Given the description of an element on the screen output the (x, y) to click on. 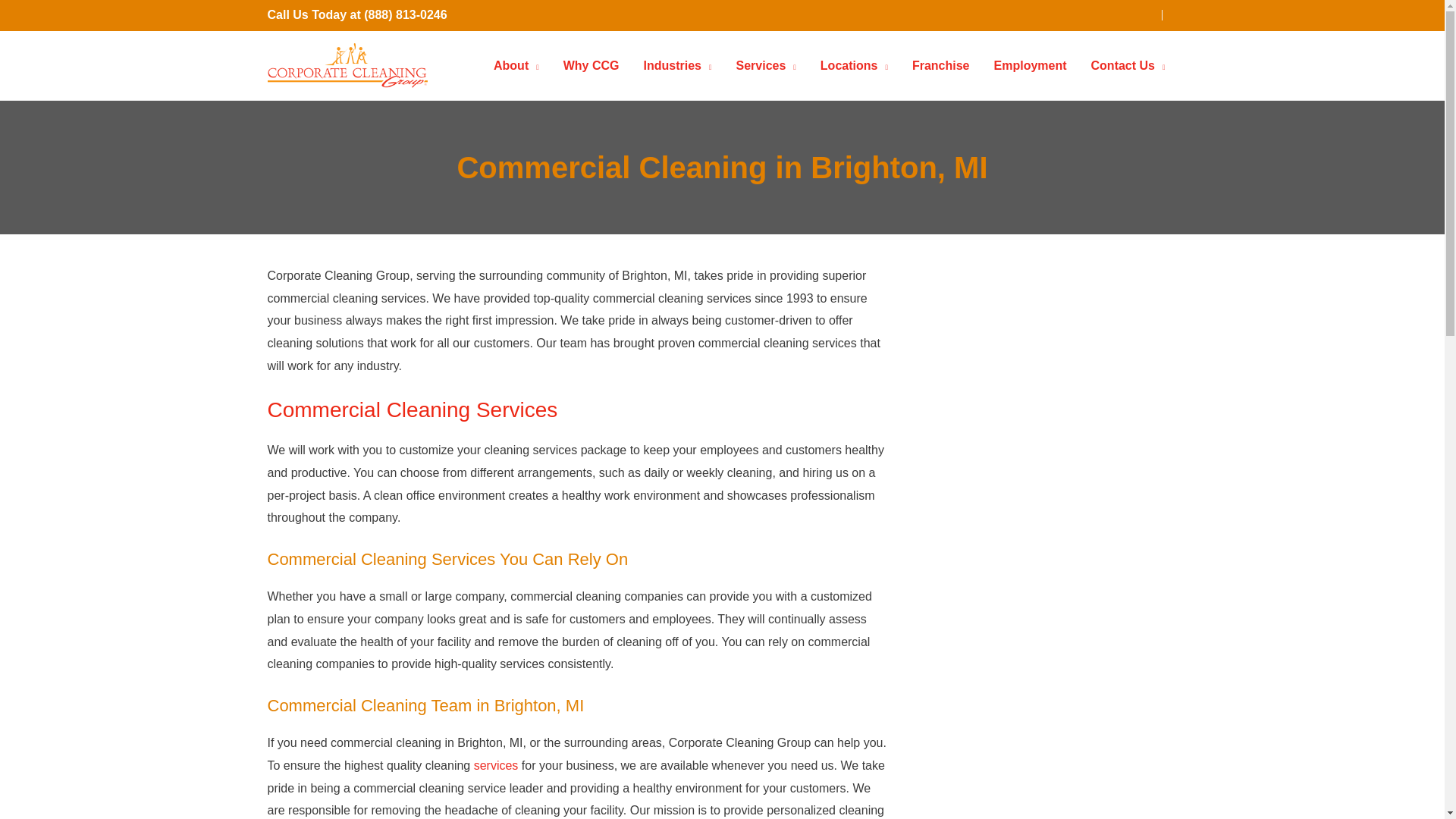
Locations (853, 65)
Services (765, 65)
Why CCG (591, 65)
About (516, 65)
Industries (676, 65)
